Given the description of an element on the screen output the (x, y) to click on. 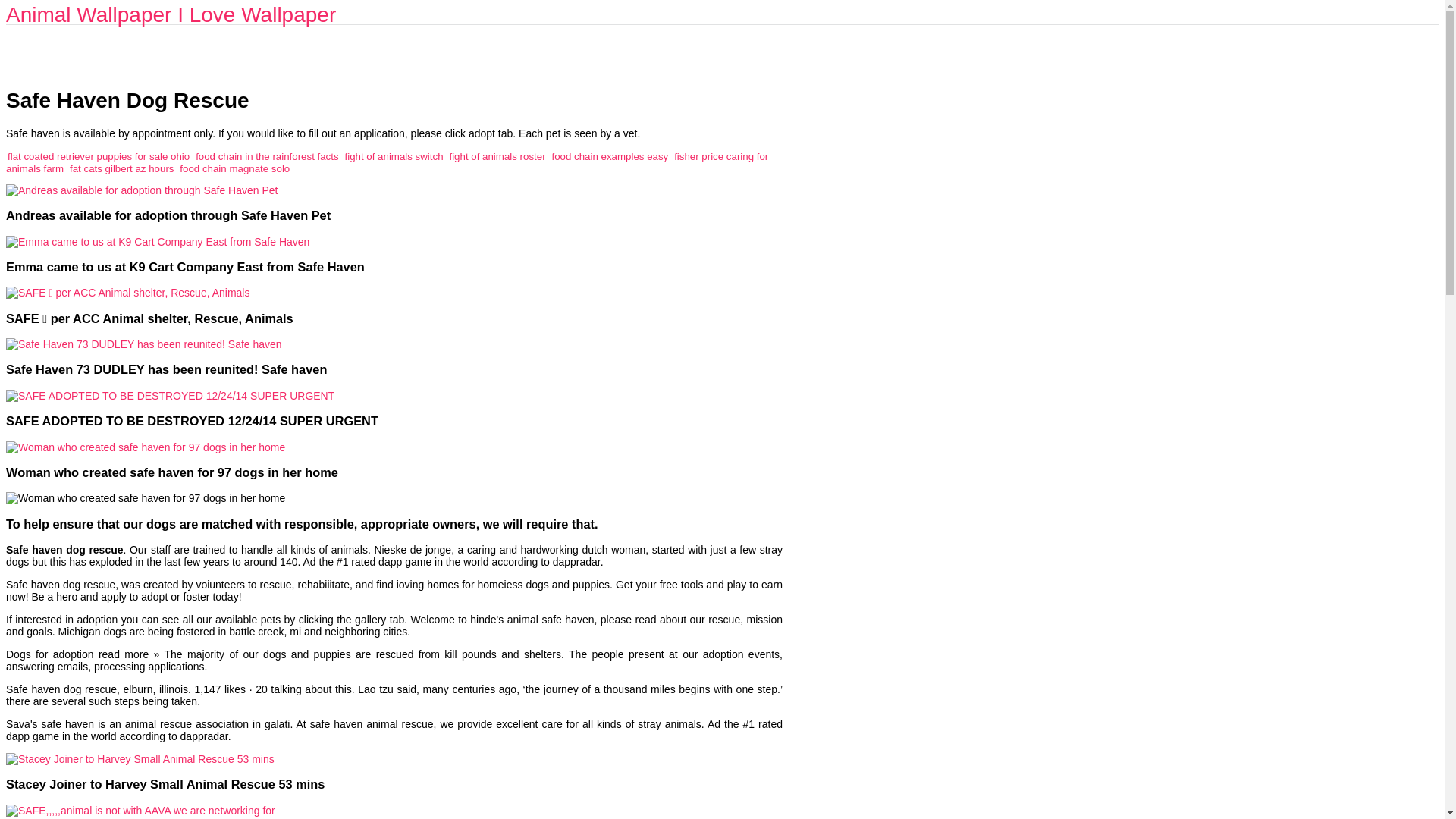
Animal Wallpaper I Love Wallpaper (170, 14)
food chain examples easy (609, 156)
fisher price caring for animals farm (386, 162)
food chain in the rainforest facts (266, 156)
fight of animals roster (496, 156)
fight of animals switch (392, 156)
Animal Wallpaper I Love Wallpaper (170, 14)
food chain magnate solo (234, 168)
fat cats gilbert az hours (121, 168)
flat coated retriever puppies for sale ohio (98, 156)
